Given the description of an element on the screen output the (x, y) to click on. 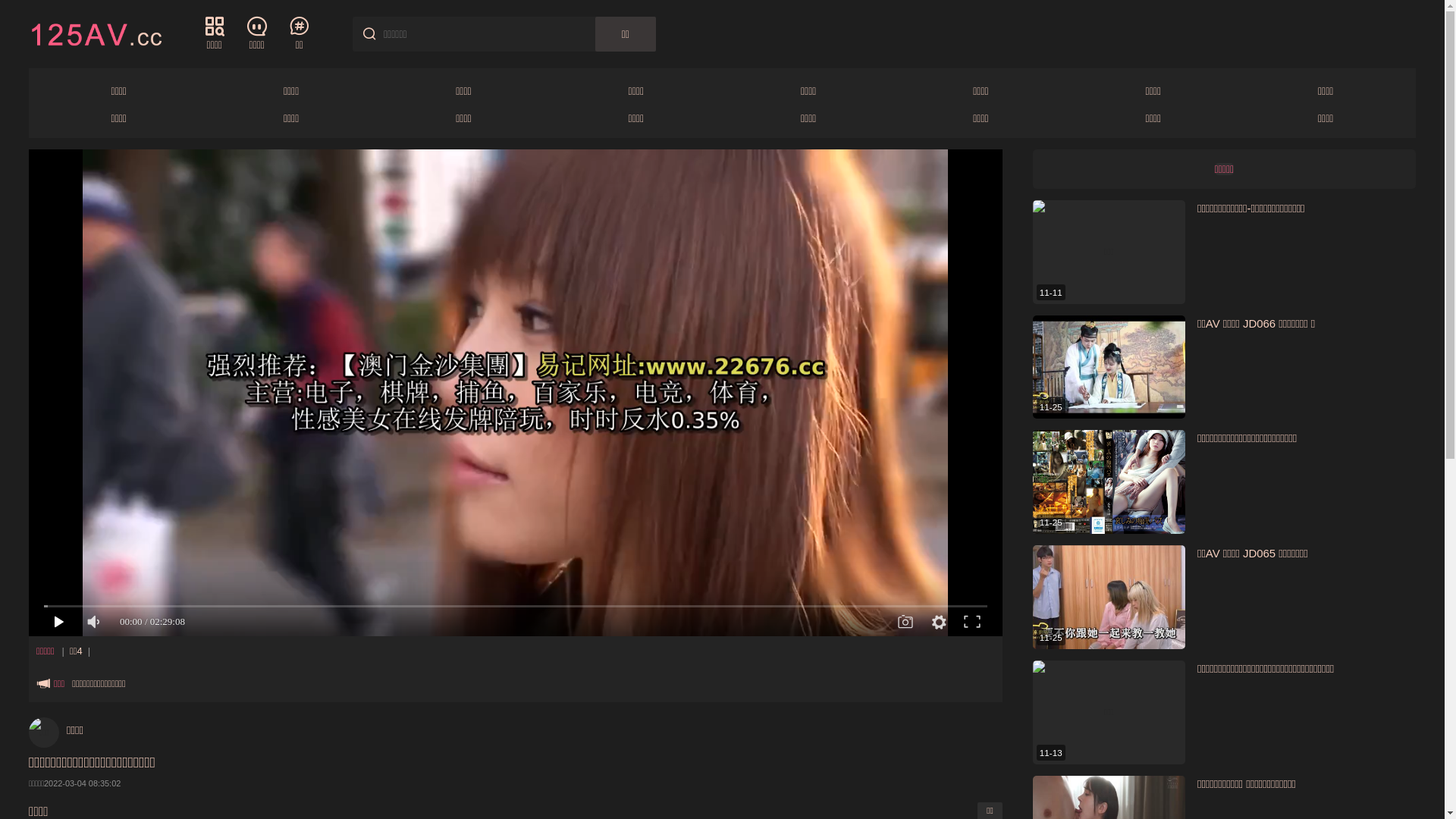
125AV Element type: hover (94, 33)
11-25 Element type: text (1108, 481)
11-25 Element type: text (1108, 367)
11-11 Element type: text (1108, 252)
11-25 Element type: text (1108, 597)
11-13 Element type: text (1108, 712)
